Given the description of an element on the screen output the (x, y) to click on. 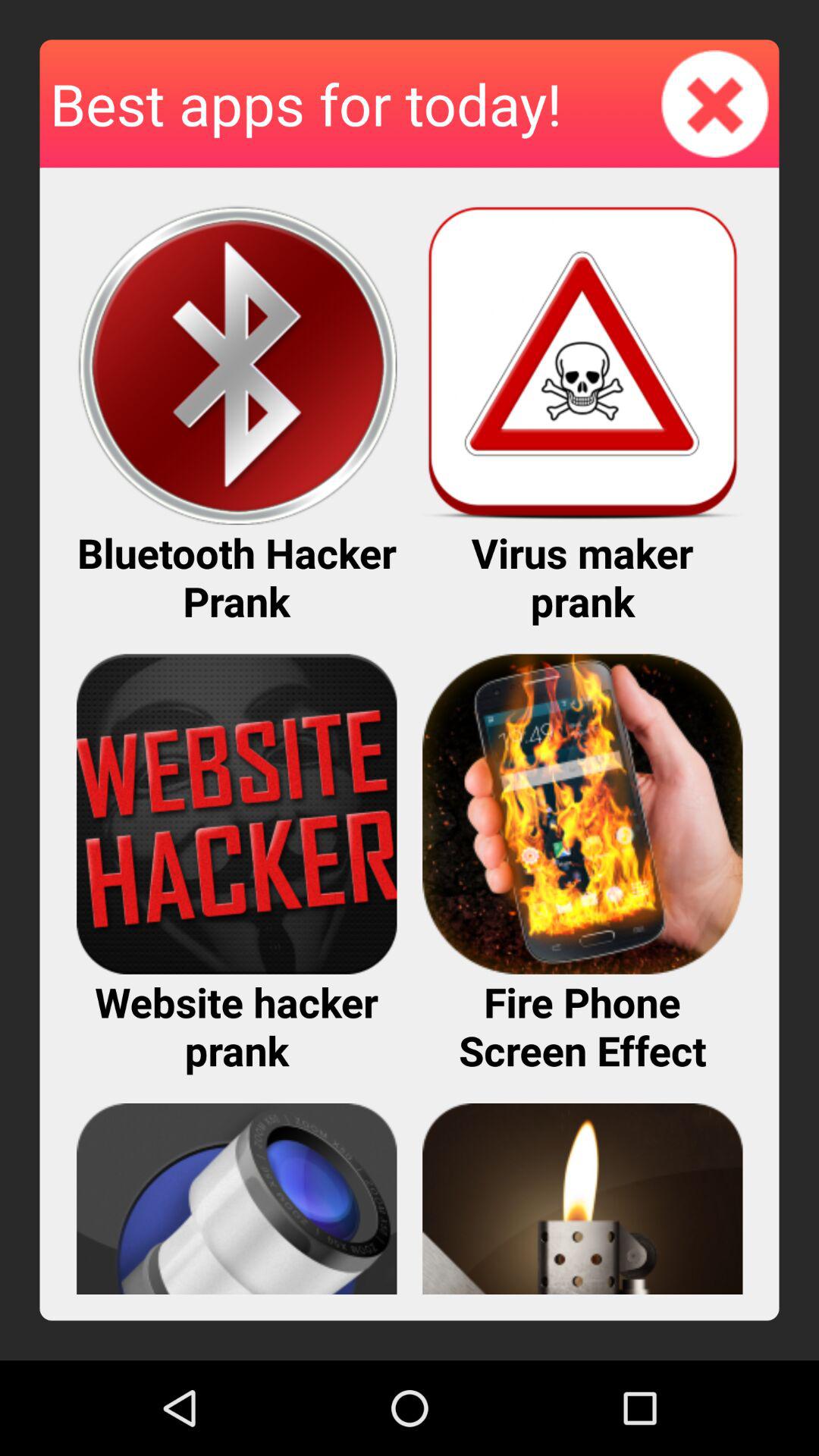
exit current screen (714, 103)
